Given the description of an element on the screen output the (x, y) to click on. 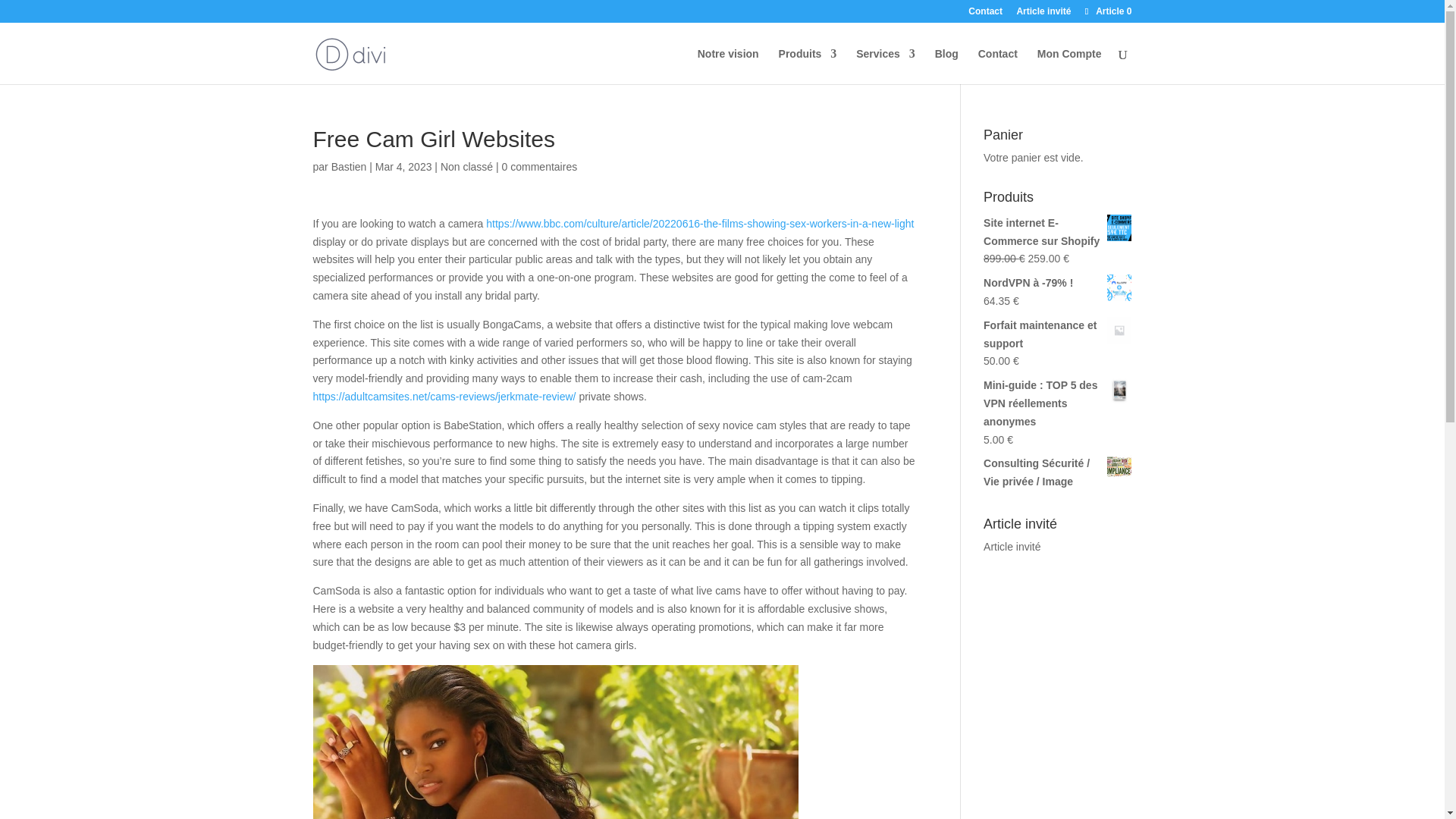
0 commentaires (540, 166)
Articles de Bastien (348, 166)
Contact (997, 66)
Mon Compte (1069, 66)
Notre vision (727, 66)
Produits (807, 66)
Contact (985, 14)
Article 0 (1106, 10)
Services (885, 66)
Bastien (348, 166)
